Given the description of an element on the screen output the (x, y) to click on. 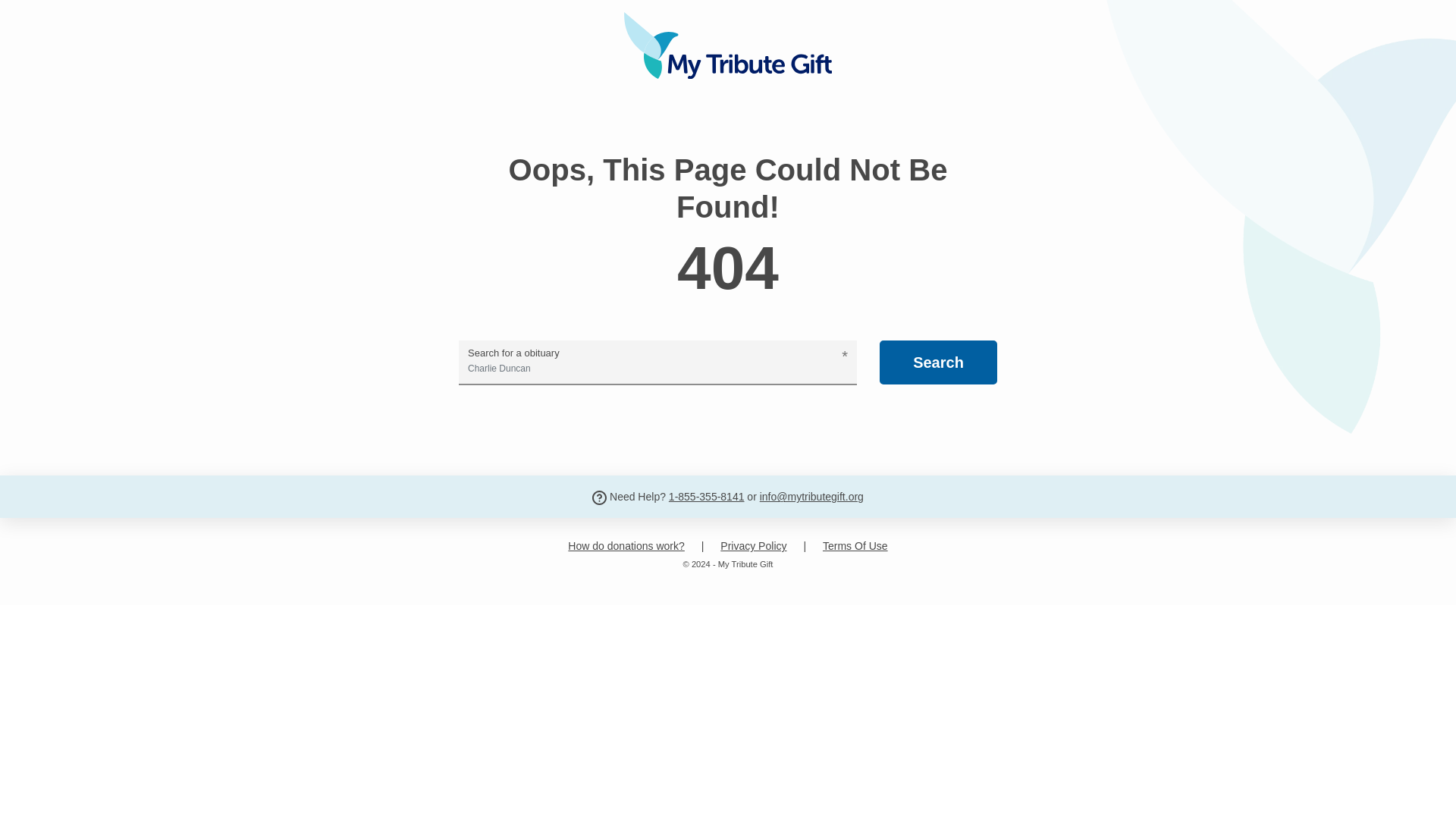
Search (938, 362)
1-855-355-8141 (706, 496)
How do donations work? (625, 546)
Privacy Policy (753, 546)
Terms Of Use (855, 546)
